Given the description of an element on the screen output the (x, y) to click on. 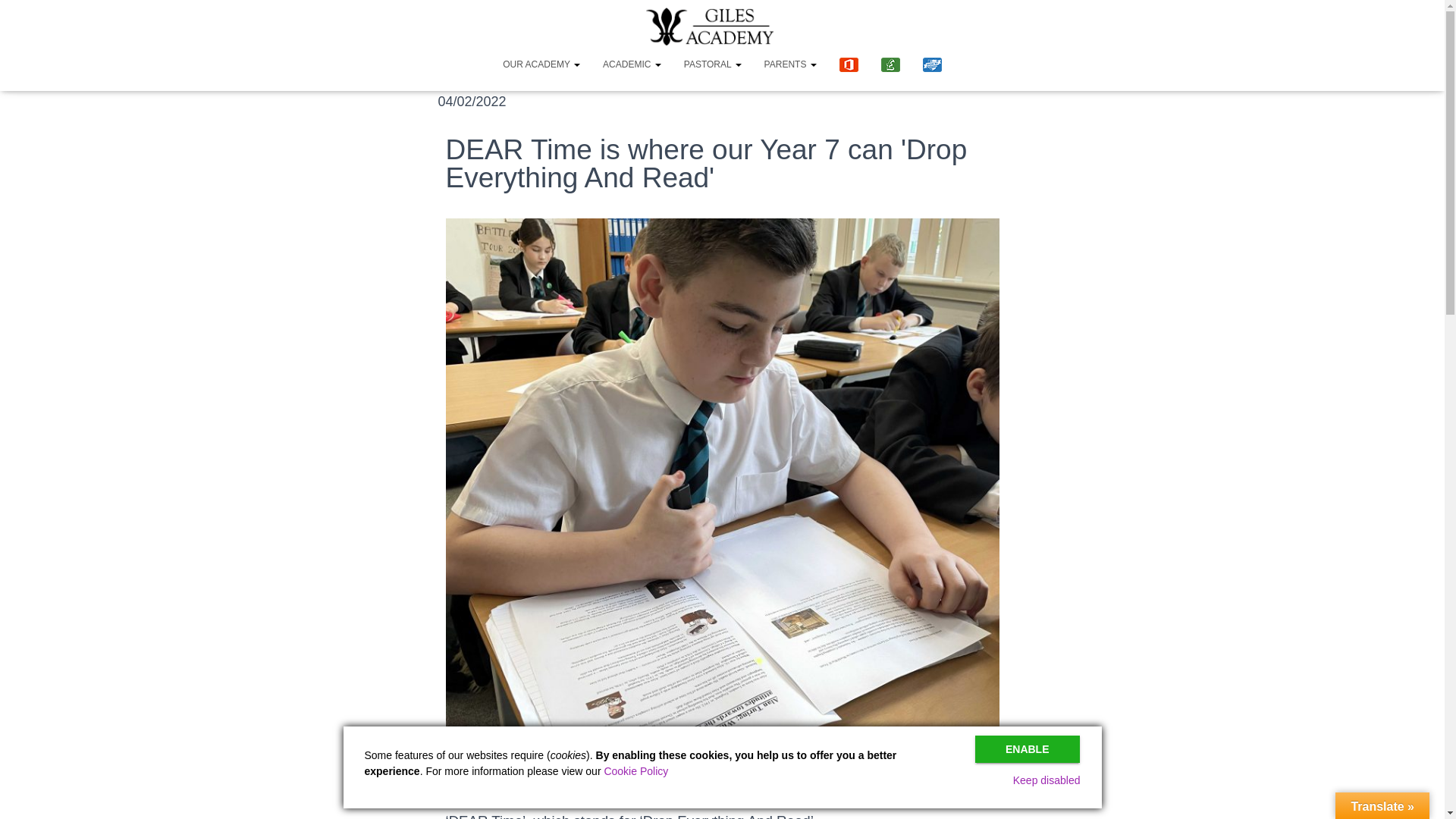
Our Academy (541, 64)
ACADEMIC (631, 64)
OUR ACADEMY (541, 64)
PASTORAL (712, 64)
Giles Academy (721, 26)
